Given the description of an element on the screen output the (x, y) to click on. 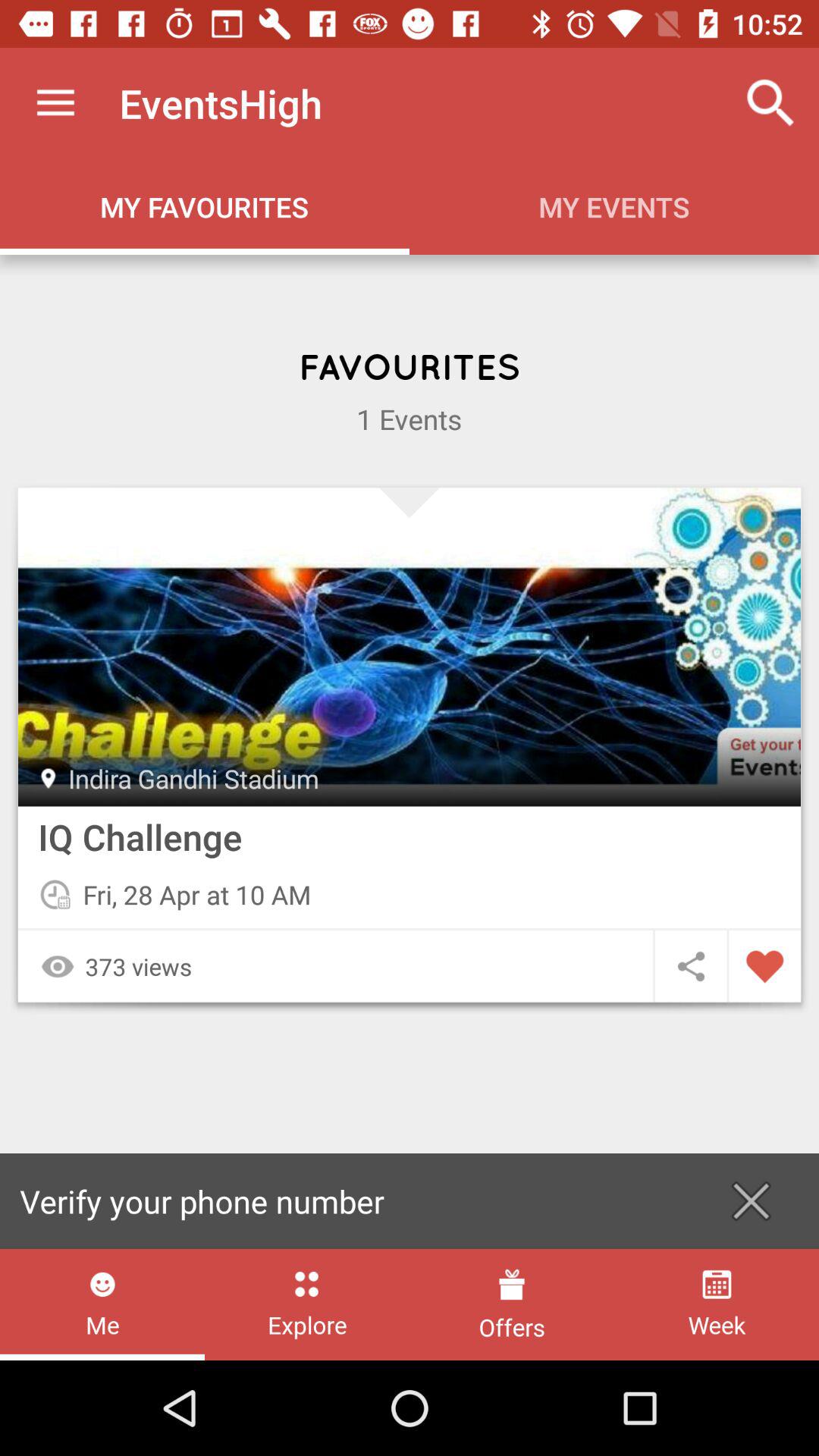
turn on icon next to the explore item (101, 1304)
